Given the description of an element on the screen output the (x, y) to click on. 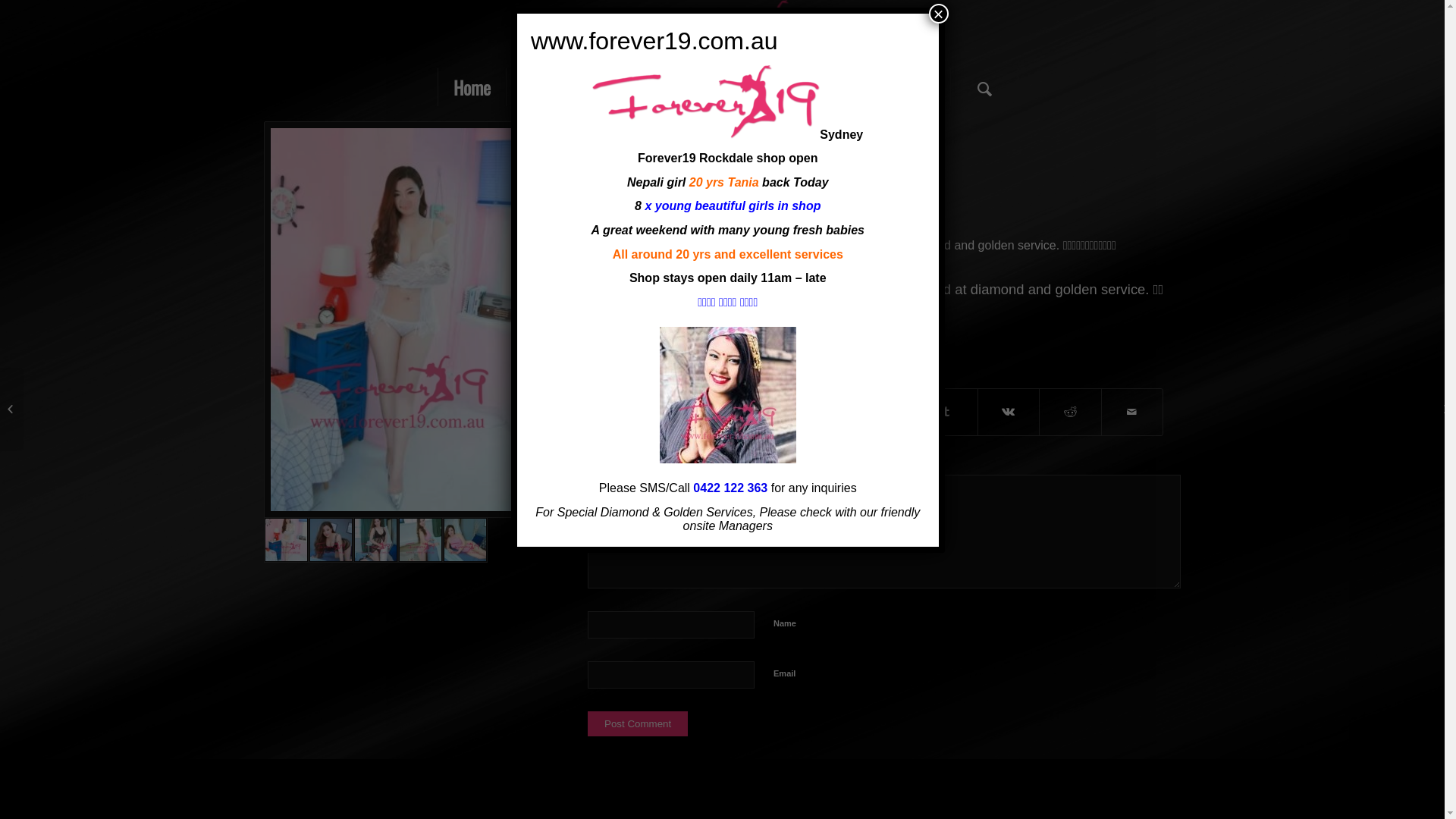
Miki-4 Element type: hover (464, 539)
Miki Element type: hover (285, 539)
Employment Element type: text (828, 87)
Miki-1 Element type: hover (330, 539)
Post Comment Element type: text (637, 723)
0422 122 363 Element type: text (730, 487)
Ladies Element type: text (676, 87)
Rate Element type: text (608, 87)
Review Element type: text (744, 87)
Miki-3 Element type: hover (420, 539)
Home Element type: text (471, 87)
Contact Element type: text (914, 87)
Roster Element type: text (539, 87)
Miki Element type: hover (398, 319)
Miki-2 Element type: hover (375, 539)
